Given the description of an element on the screen output the (x, y) to click on. 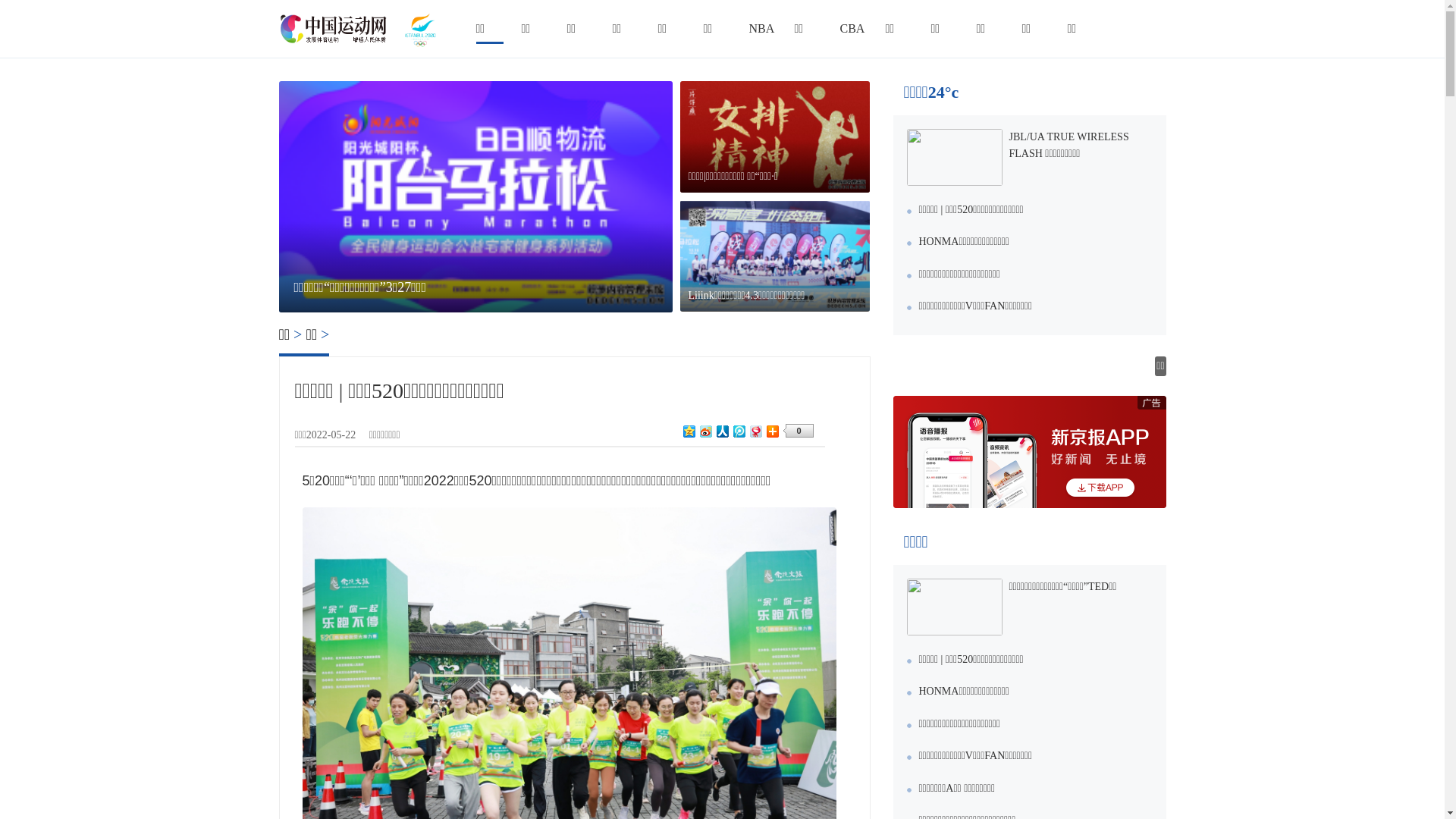
NBA Element type: text (762, 27)
CBA Element type: text (852, 27)
